Given the description of an element on the screen output the (x, y) to click on. 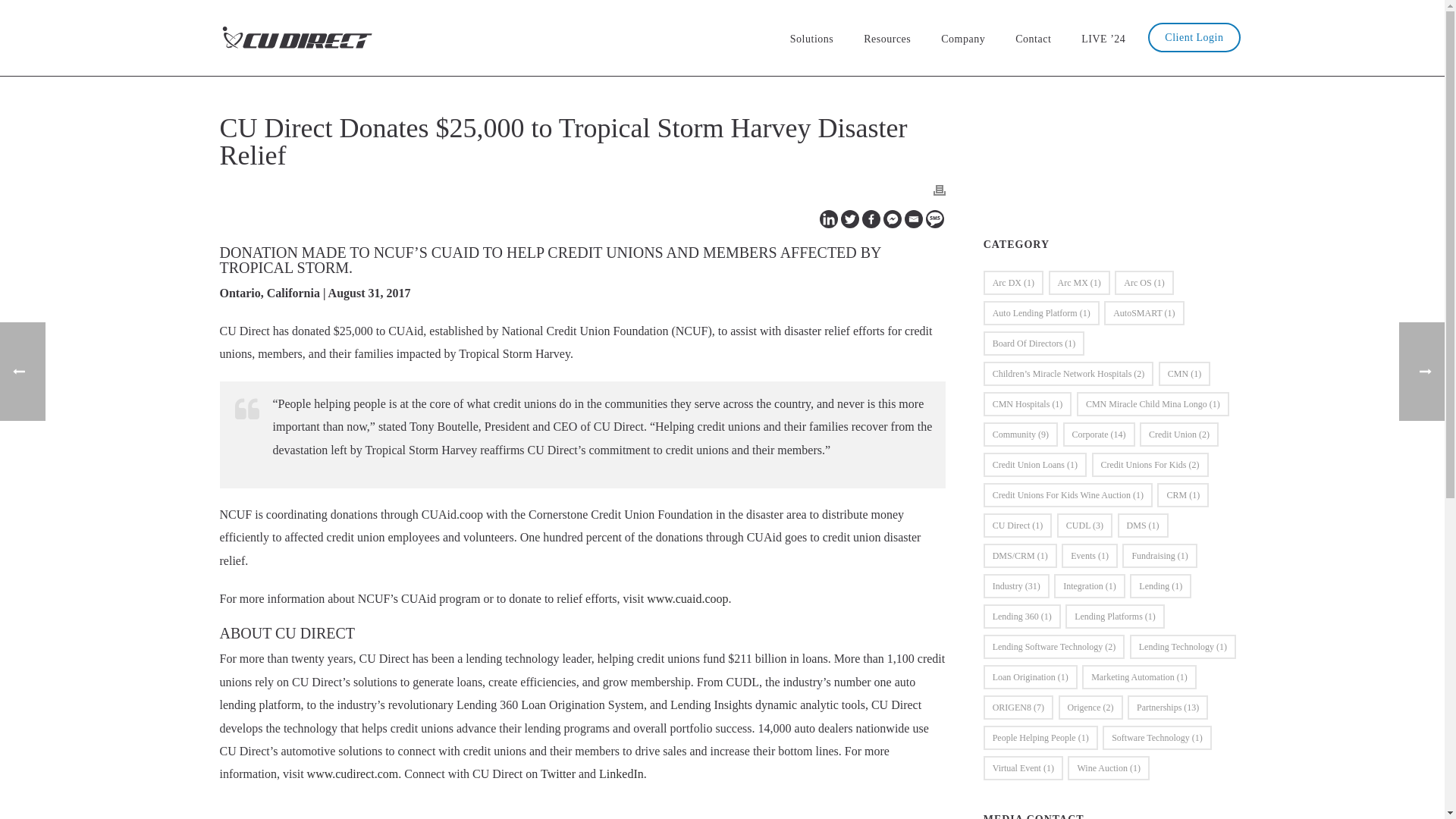
Company (963, 38)
Resources (887, 38)
Facebook (870, 218)
SMS (934, 218)
Client Login (1194, 37)
Client Login (1194, 37)
Linkedin (828, 218)
Resources (887, 38)
Solutions (811, 38)
Twitter (850, 218)
